Given the description of an element on the screen output the (x, y) to click on. 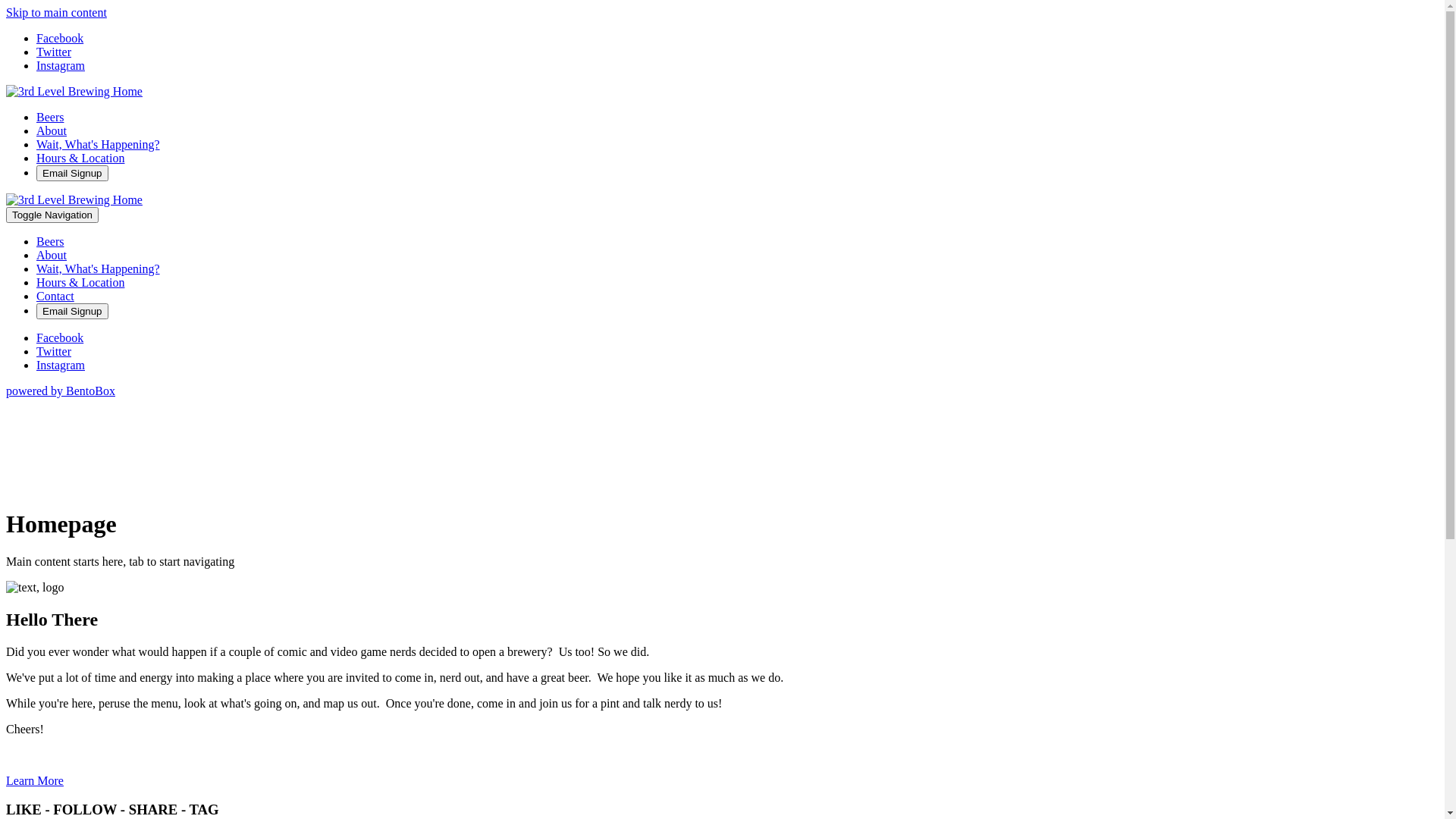
About Element type: text (51, 130)
Email Signup Element type: text (72, 311)
powered by BentoBox Element type: text (60, 390)
Hours & Location Element type: text (80, 282)
Wait, What's Happening? Element type: text (98, 268)
Instagram Element type: text (60, 364)
Twitter Element type: text (53, 51)
Hours & Location Element type: text (80, 157)
Email Signup Element type: text (72, 173)
Skip to main content Element type: text (56, 12)
Facebook Element type: text (59, 337)
Learn More Element type: text (34, 780)
Toggle Navigation Element type: text (52, 214)
Beers Element type: text (49, 116)
Instagram Element type: text (60, 65)
Facebook Element type: text (59, 37)
About Element type: text (51, 254)
Contact Element type: text (55, 295)
Beers Element type: text (49, 241)
Twitter Element type: text (53, 351)
Wait, What's Happening? Element type: text (98, 144)
